Given the description of an element on the screen output the (x, y) to click on. 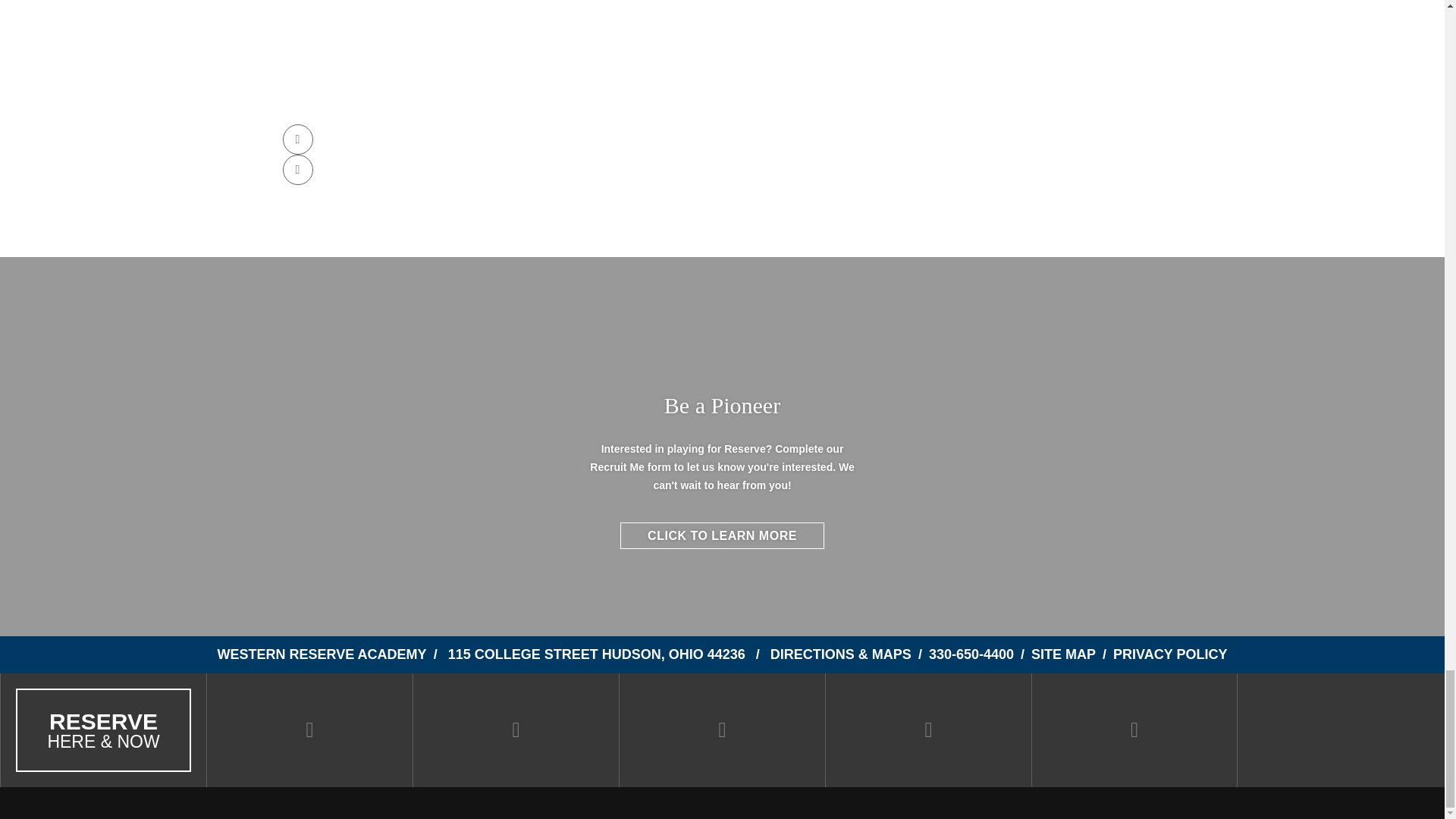
Powered by Finalsite opens in a new window (721, 808)
